Given the description of an element on the screen output the (x, y) to click on. 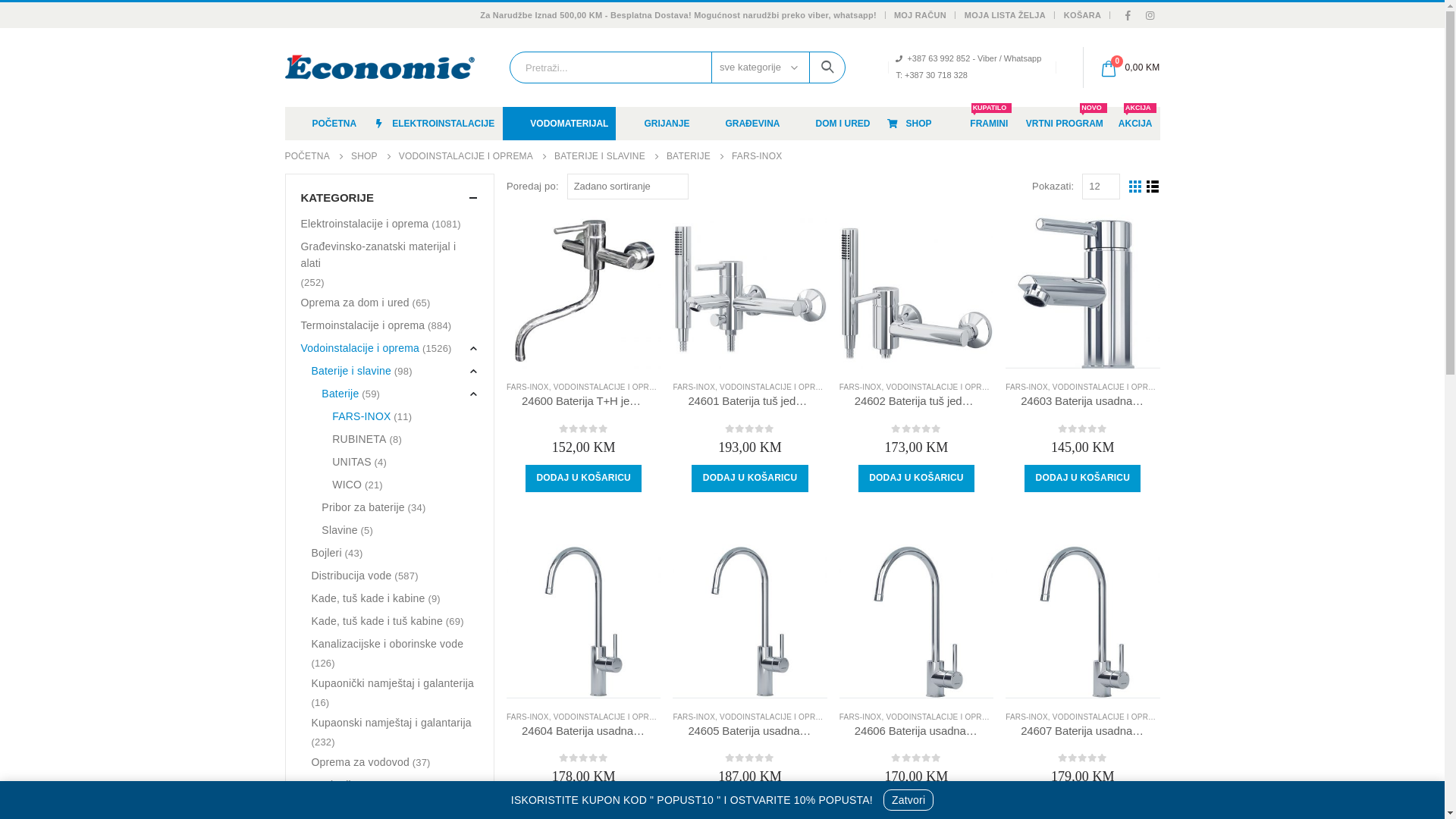
Pribor za baterije Element type: text (362, 506)
BATERIJE I SLAVINE Element type: text (599, 155)
Elektroinstalacije i oprema Element type: text (364, 223)
DOM I URED Element type: text (832, 123)
Slavine Element type: text (339, 529)
Baterije i slavine Element type: text (350, 370)
GRIJANJE Element type: text (656, 123)
ELEKTROINSTALACIJE Element type: text (433, 123)
Prikaz popisa Element type: hover (1152, 186)
Oprema za vodovod Element type: text (359, 761)
FARS-INOX Element type: text (693, 386)
VODOINSTALACIJE I OPREMA Element type: text (1108, 386)
RUBINETA Element type: text (358, 438)
FARS-INOX Element type: text (527, 386)
VODOINSTALACIJE I OPREMA Element type: text (465, 155)
VODOINSTALACIJE I OPREMA Element type: text (941, 386)
FARS-INOX Element type: text (1026, 716)
AKCIJA
AKCIJA Element type: text (1135, 123)
Kanalizacijske i oborinske vode Element type: text (386, 643)
SHOP Element type: text (364, 155)
FRAMINI
KUPATILO Element type: text (988, 123)
Oprema za dom i ured Element type: text (354, 302)
Termoinstalacije i oprema Element type: text (362, 324)
VODOINSTALACIJE I OPREMA Element type: text (941, 716)
Bojleri Element type: text (325, 552)
Instagram Element type: hover (1150, 15)
FARS-INOX Element type: text (361, 415)
BATERIJE Element type: text (688, 155)
VODOINSTALACIJE I OPREMA Element type: text (1108, 716)
Facebook Element type: hover (1128, 15)
FARS-INOX Element type: text (693, 716)
Baterije Element type: text (339, 393)
FARS-INOX Element type: text (860, 716)
Zatvori Element type: text (908, 799)
UNITAS Element type: text (351, 461)
VODOMATERIJAL Element type: text (558, 123)
VRTNI PROGRAM
NOVO Element type: text (1064, 123)
VODOINSTALACIJE I OPREMA Element type: text (609, 716)
FARS-INOX Element type: text (1026, 386)
VODOINSTALACIJE I OPREMA Element type: text (775, 386)
Sanitarija Element type: text (333, 784)
Distribucija vode Element type: text (350, 575)
VODOINSTALACIJE I OPREMA Element type: text (775, 716)
FARS-INOX Element type: text (527, 716)
VODOINSTALACIJE I OPREMA Element type: text (609, 386)
WICO Element type: text (346, 484)
SHOP Element type: text (908, 123)
Vodoinstalacije i oprema Element type: text (359, 347)
FARS-INOX Element type: text (860, 386)
